Given the description of an element on the screen output the (x, y) to click on. 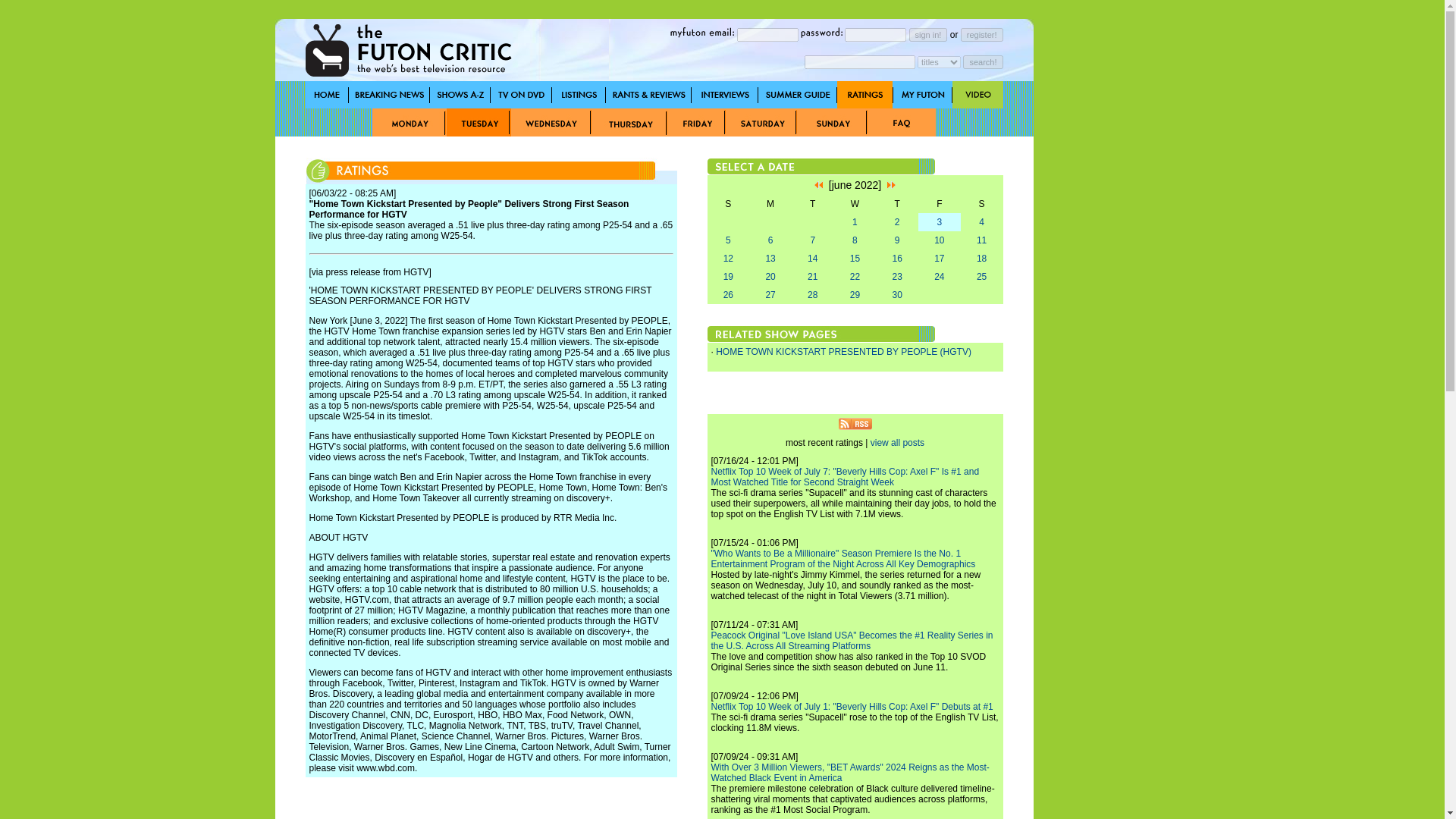
sign in! (927, 33)
1 (854, 222)
10 (938, 240)
4 (981, 222)
search! (982, 60)
2 (897, 222)
sign in! (927, 33)
12 (728, 258)
7 (812, 240)
8 (854, 240)
11 (981, 240)
9 (897, 240)
register! (981, 33)
search! (982, 60)
6 (770, 240)
